Given the description of an element on the screen output the (x, y) to click on. 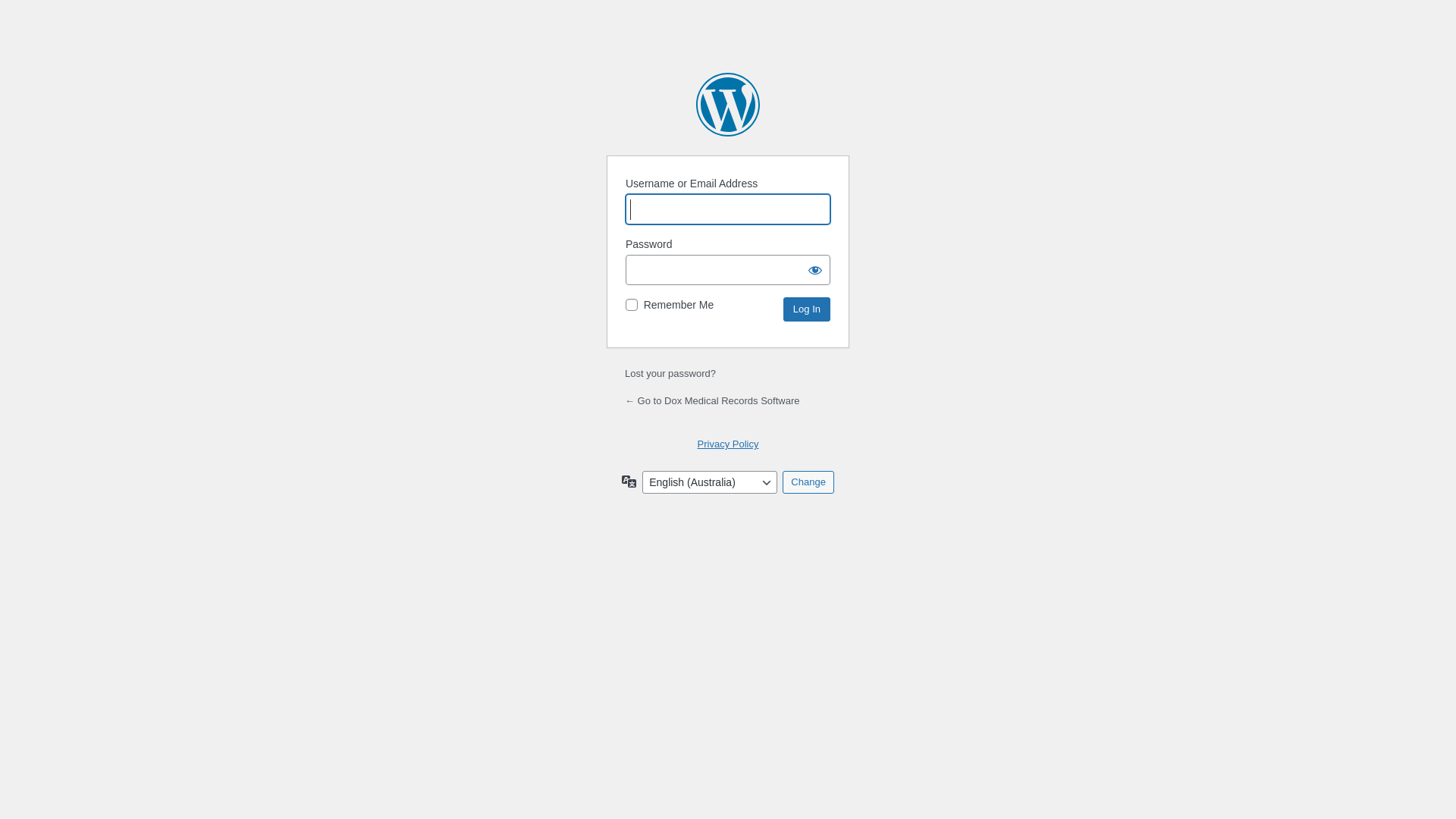
Powered by WordPress Element type: text (727, 104)
Change Element type: text (808, 481)
Privacy Policy Element type: text (728, 443)
Lost your password? Element type: text (669, 373)
Log In Element type: text (806, 309)
